Given the description of an element on the screen output the (x, y) to click on. 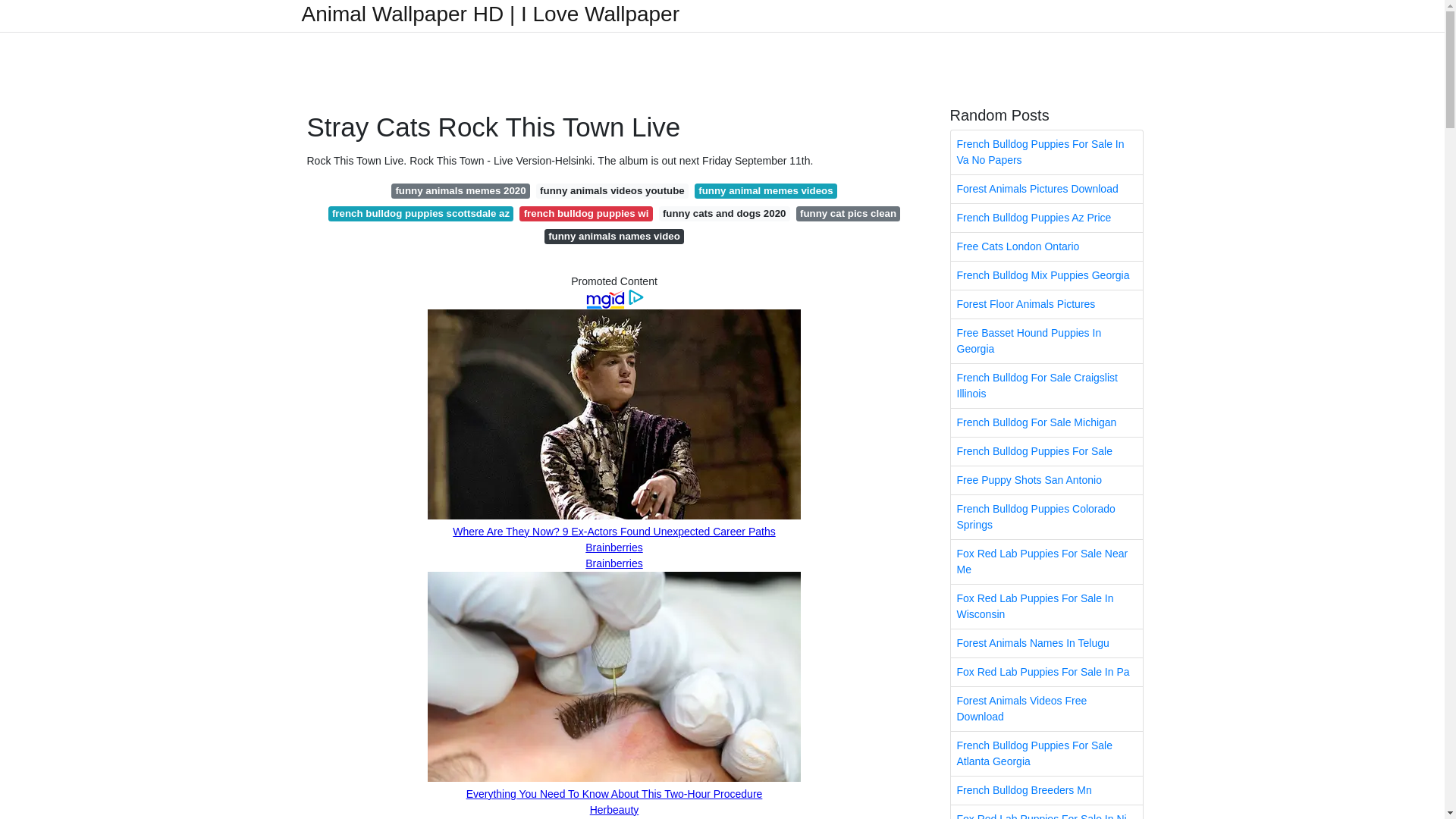
French Bulldog For Sale Craigslist Illinois (1046, 385)
Forest Floor Animals Pictures (1046, 304)
Free Basset Hound Puppies In Georgia (1046, 341)
French Bulldog Puppies For Sale (1046, 451)
french bulldog puppies wi (585, 213)
Free Cats London Ontario (1046, 246)
funny animals memes 2020 (460, 191)
French Bulldog For Sale Michigan (1046, 422)
funny animals videos youtube (611, 191)
funny animals names video (614, 236)
French Bulldog Mix Puppies Georgia (1046, 275)
French Bulldog Puppies Az Price (1046, 217)
funny animal memes videos (765, 191)
Forest Animals Pictures Download (1046, 189)
funny cats and dogs 2020 (724, 213)
